Given the description of an element on the screen output the (x, y) to click on. 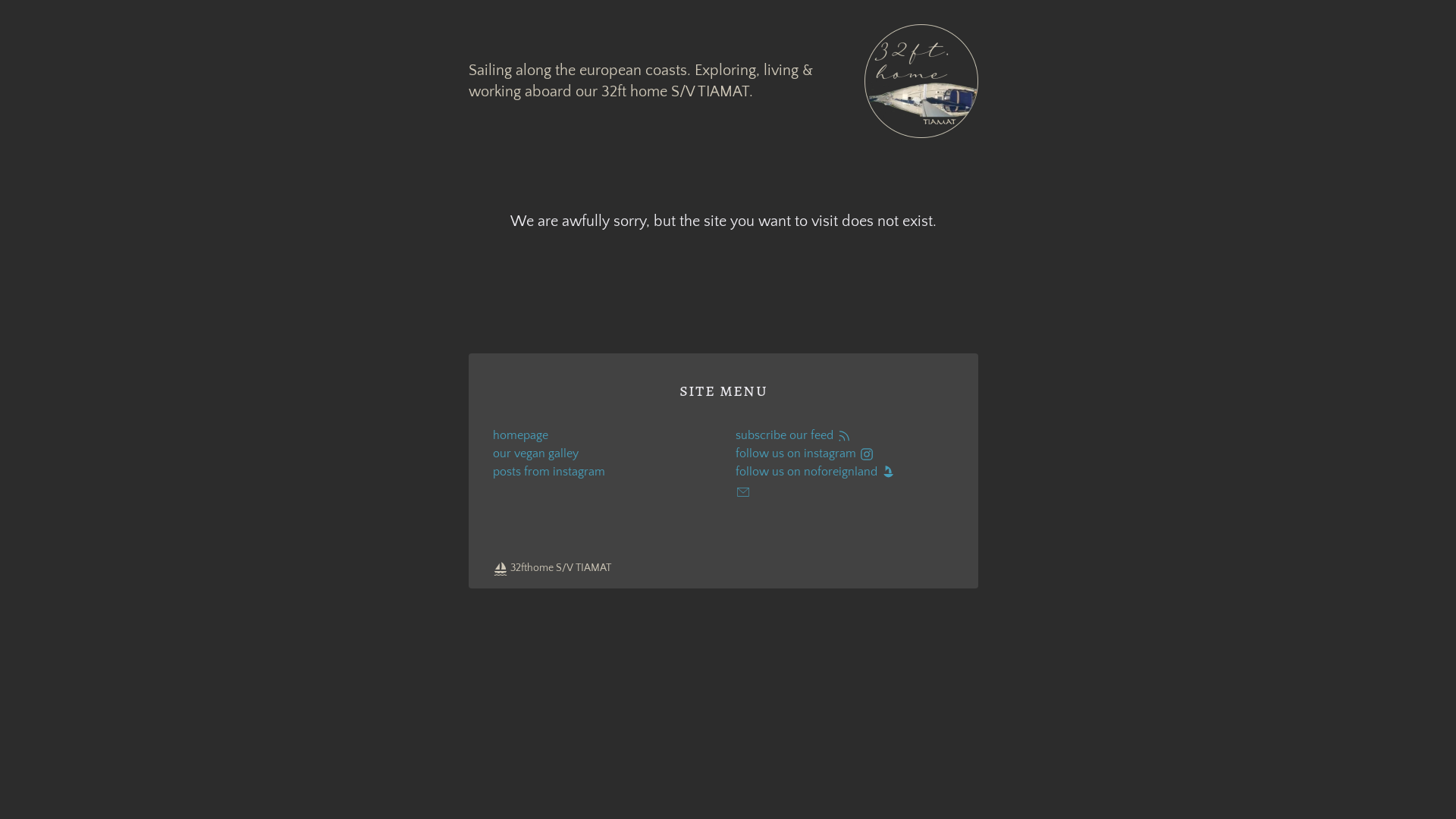
follow us on noforeignland Element type: text (844, 471)
32fthome - S/V TIAMAT Element type: hover (921, 81)
homepage Element type: text (601, 435)
posts from instagram Element type: text (601, 471)
follow us on instagram Element type: text (844, 453)
32fthome S/V TIAMAT Element type: text (551, 567)
our vegan galley Element type: text (601, 453)
subscribe our feed Element type: text (844, 435)
